Given the description of an element on the screen output the (x, y) to click on. 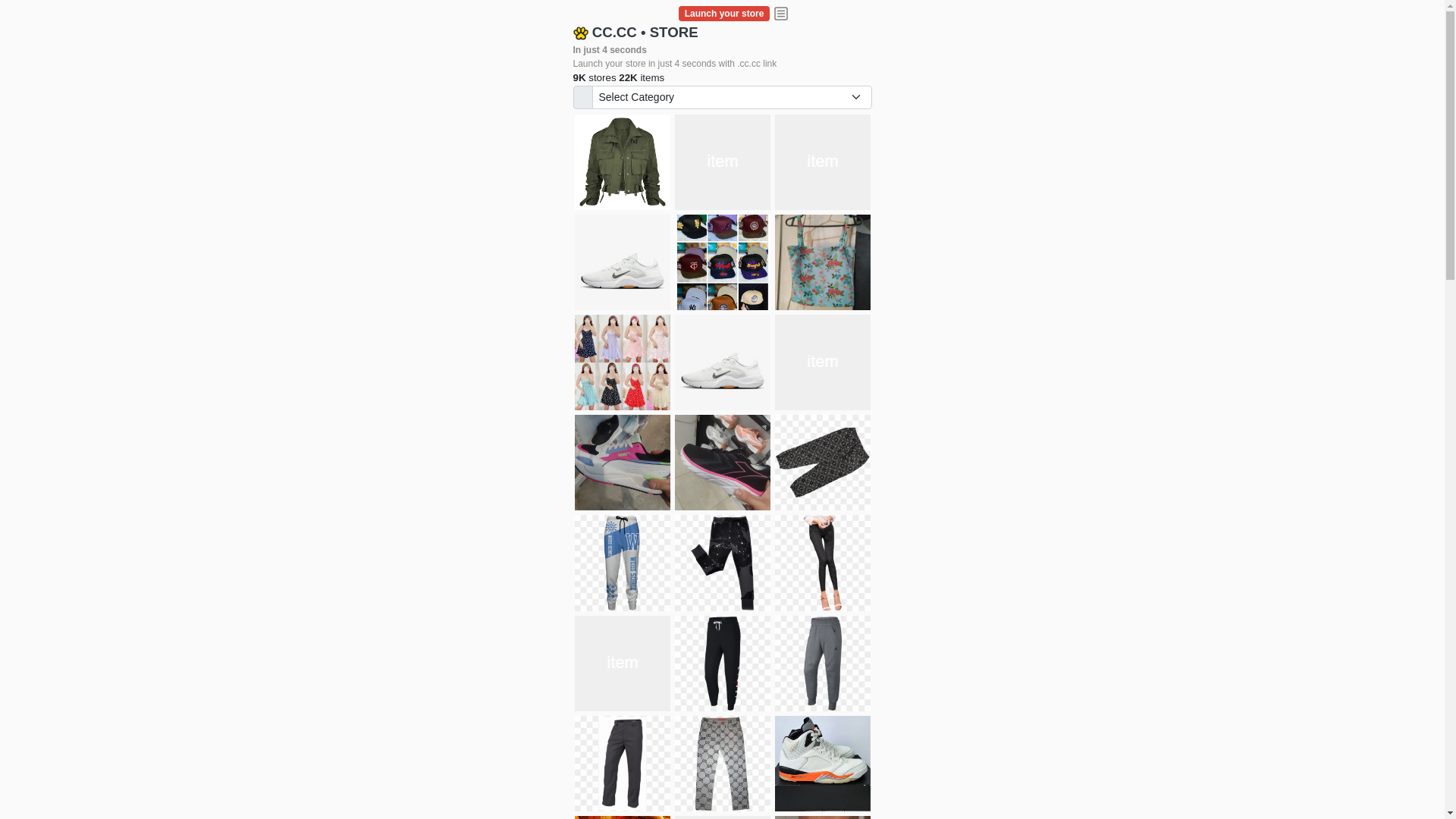
Pant Element type: hover (622, 663)
Dress/square nect top Element type: hover (622, 362)
Launch your store Element type: text (723, 13)
shoes for boys Element type: hover (822, 162)
Pant Element type: hover (722, 663)
Pant Element type: hover (822, 562)
Shoe Element type: hover (822, 763)
Ukay cloth Element type: hover (822, 262)
jacket Element type: hover (622, 162)
Things we need Element type: hover (722, 262)
Shoes for boys Element type: hover (622, 262)
Zapatillas pumas Element type: hover (622, 462)
Pant Element type: hover (622, 562)
Pant Element type: hover (722, 763)
Shoes Element type: hover (722, 362)
Zapatillas Element type: hover (722, 462)
Pant Element type: hover (722, 562)
white shoes Element type: hover (722, 162)
Pant Element type: hover (622, 763)
Short pant Element type: hover (822, 462)
Pant Element type: hover (822, 663)
